Given the description of an element on the screen output the (x, y) to click on. 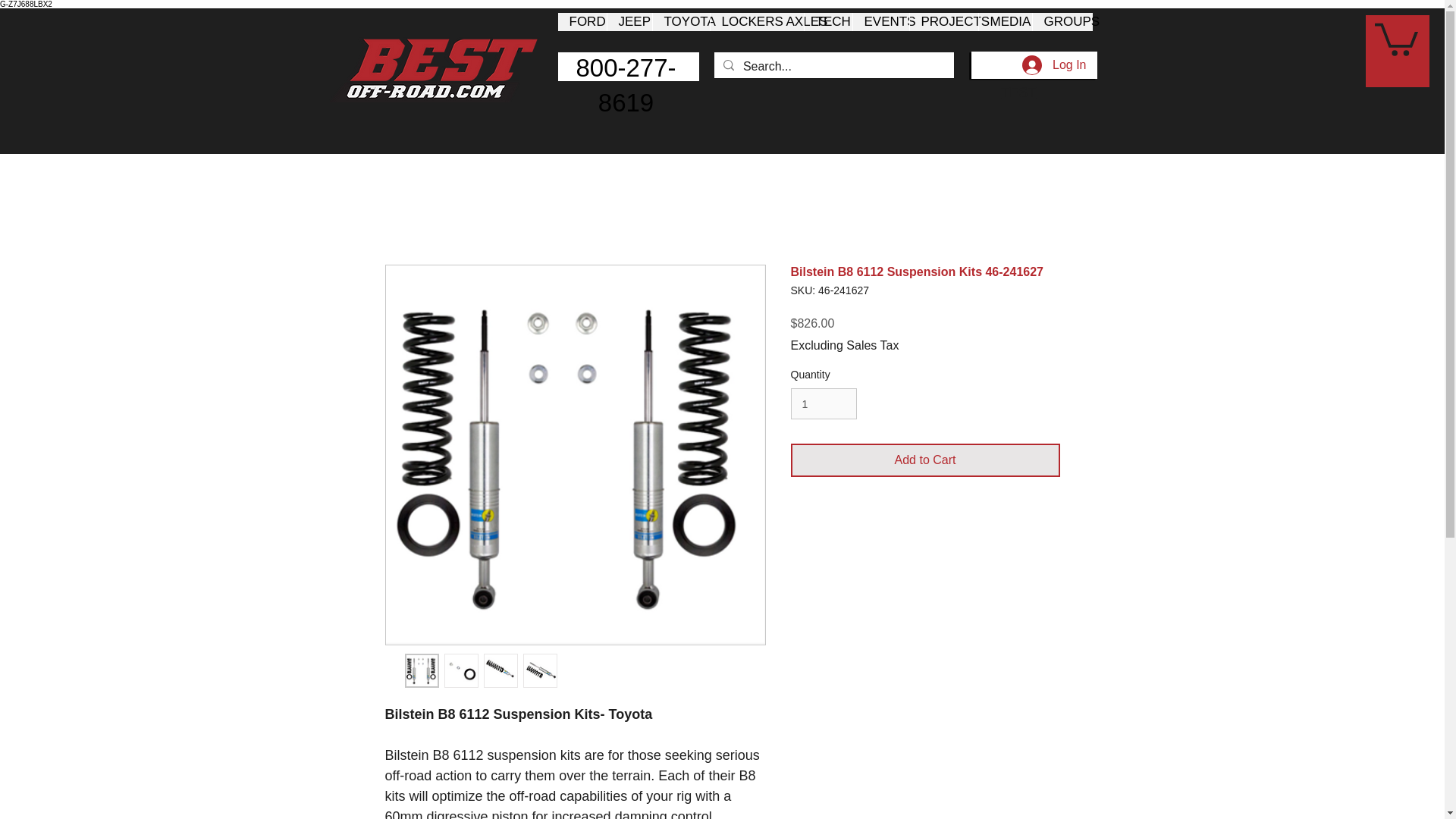
TEST (1018, 92)
JEEP (629, 22)
MEDIA (1005, 22)
GROUPS (1061, 22)
TOYOTA (681, 22)
1 (823, 403)
FORD (582, 22)
EVENTS (879, 22)
PROJECTS (942, 22)
Log In (1053, 64)
